Given the description of an element on the screen output the (x, y) to click on. 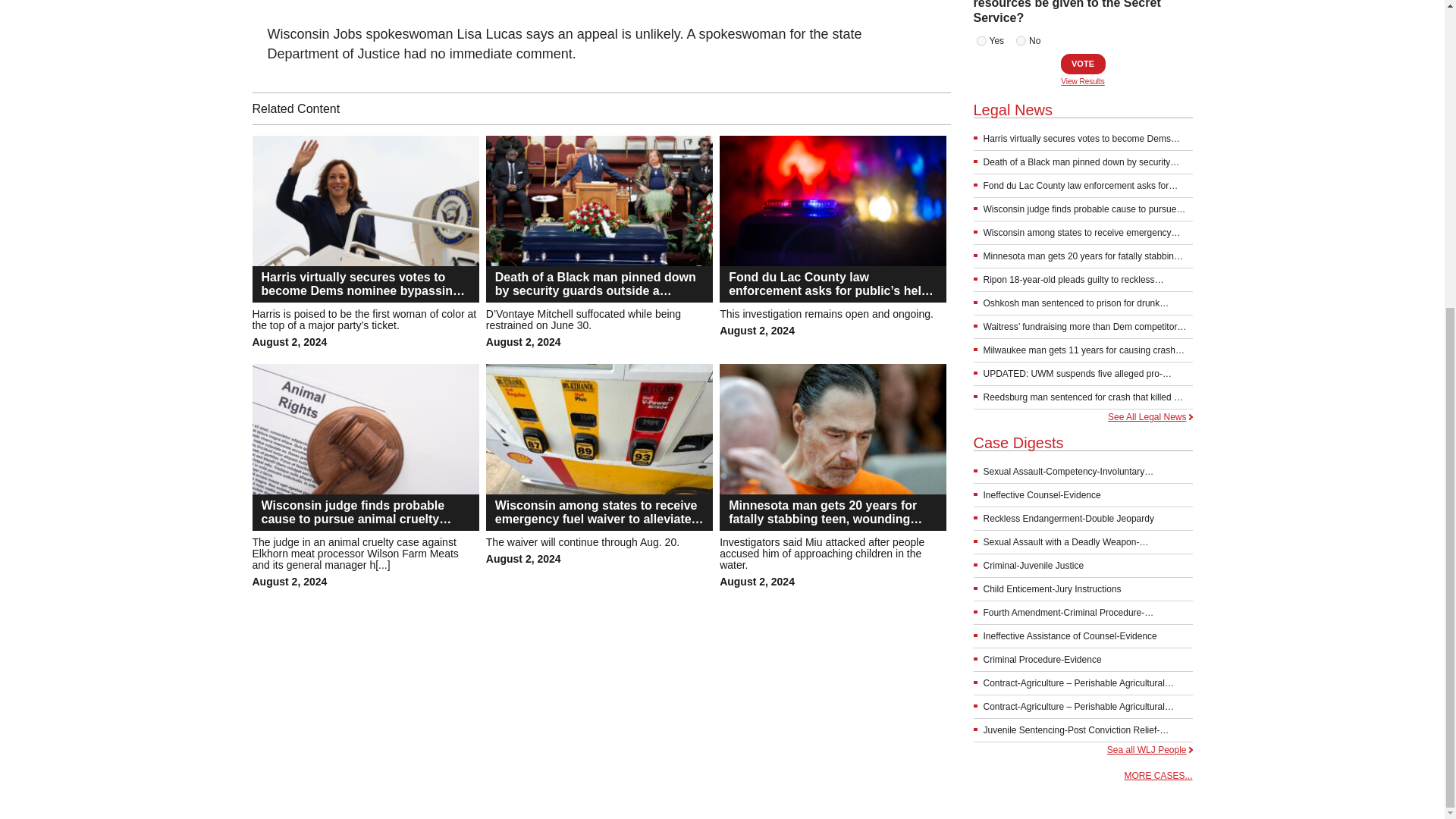
502 (1021, 40)
View Results Of This Poll (1083, 81)
   Vote    (1082, 64)
501 (981, 40)
